Given the description of an element on the screen output the (x, y) to click on. 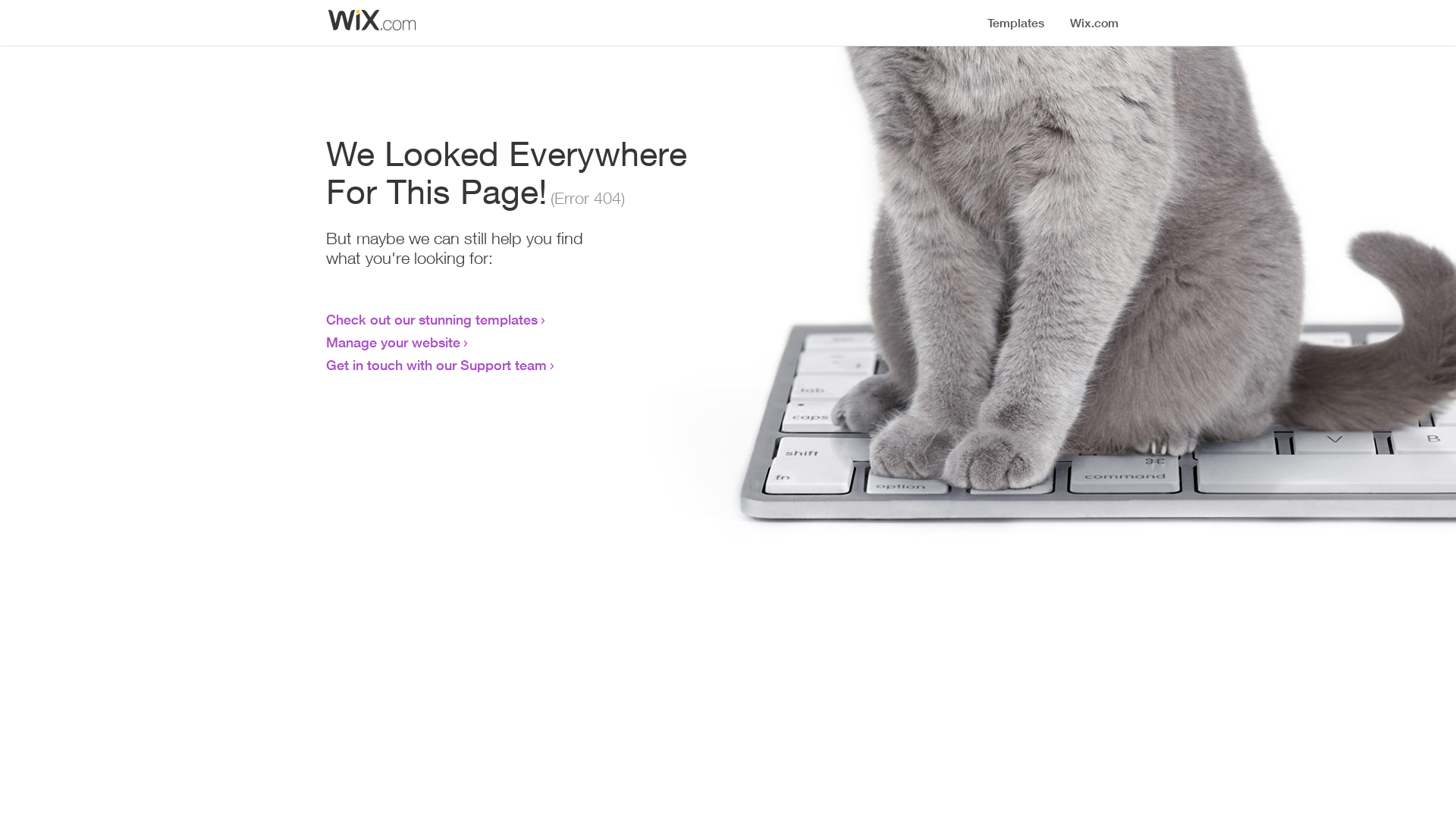
Get in touch with our Support team Element type: text (436, 364)
Check out our stunning templates Element type: text (431, 318)
Manage your website Element type: text (393, 341)
